Given the description of an element on the screen output the (x, y) to click on. 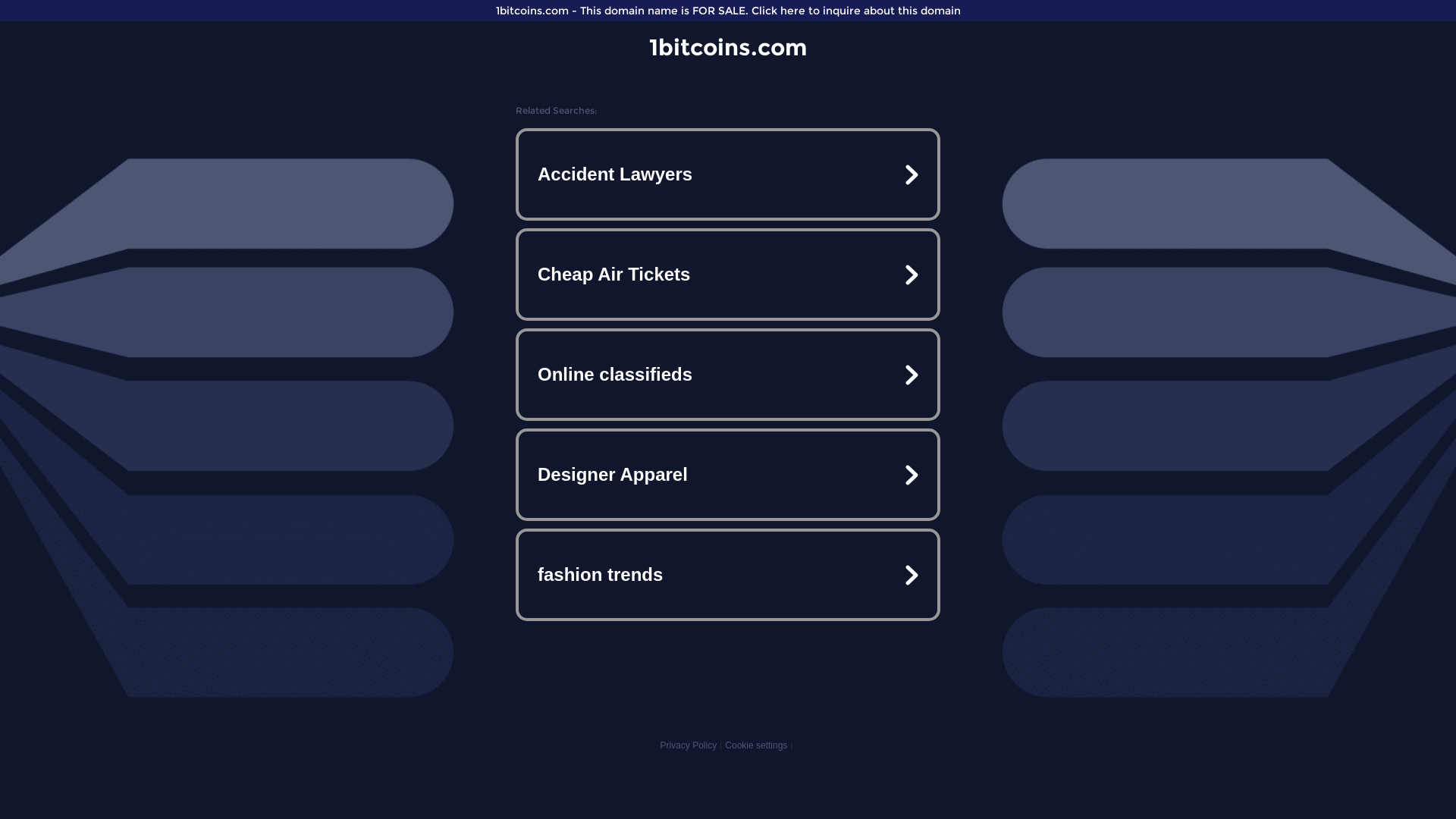
Cookie settings Element type: text (755, 745)
Online classifieds Element type: text (727, 374)
Privacy Policy Element type: text (687, 745)
fashion trends Element type: text (727, 574)
Accident Lawyers Element type: text (727, 174)
Cheap Air Tickets Element type: text (727, 274)
Designer Apparel Element type: text (727, 474)
1bitcoins.com Element type: text (727, 47)
